Given the description of an element on the screen output the (x, y) to click on. 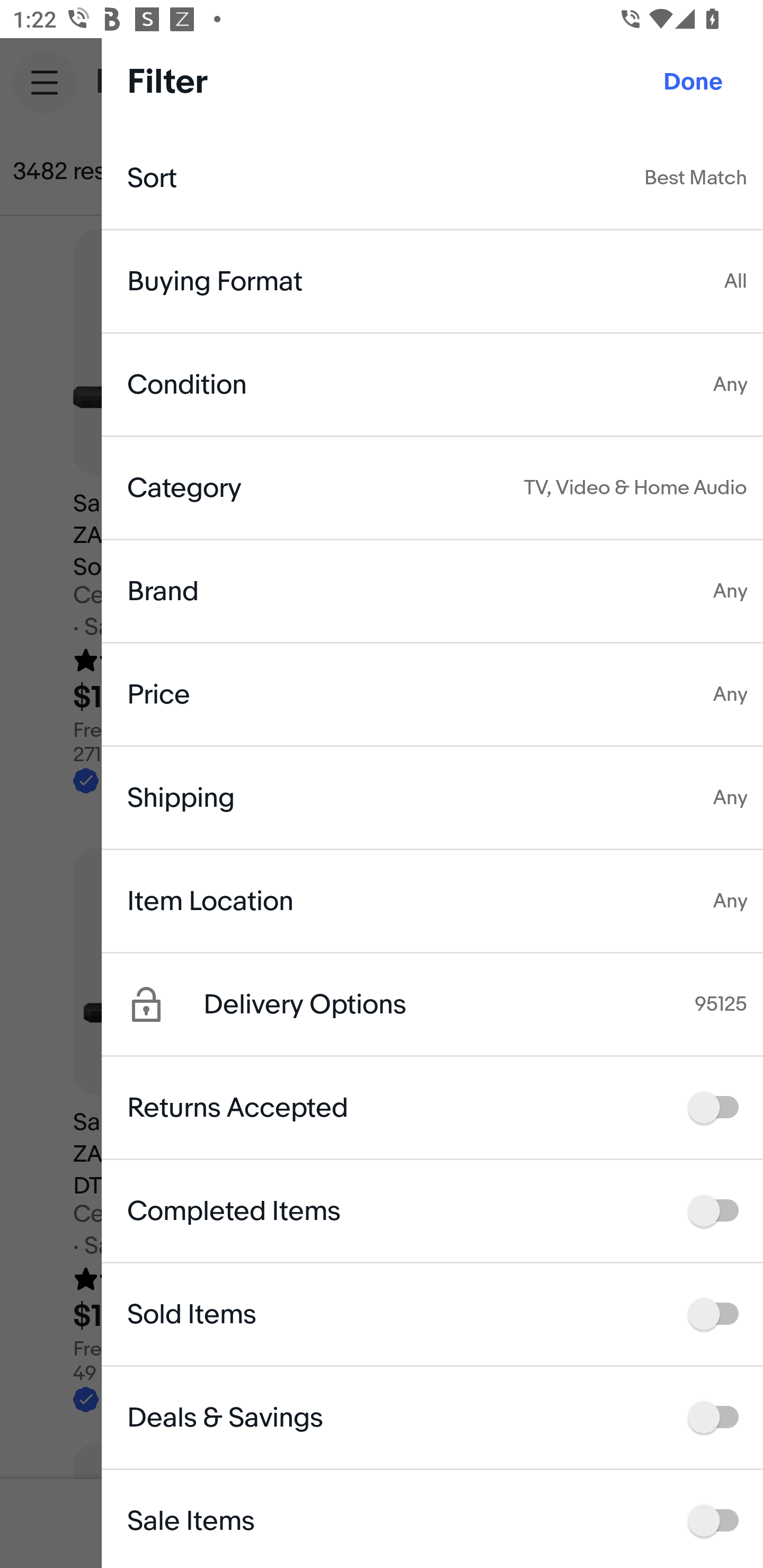
Done (693, 82)
Filter (686, 171)
